Given the description of an element on the screen output the (x, y) to click on. 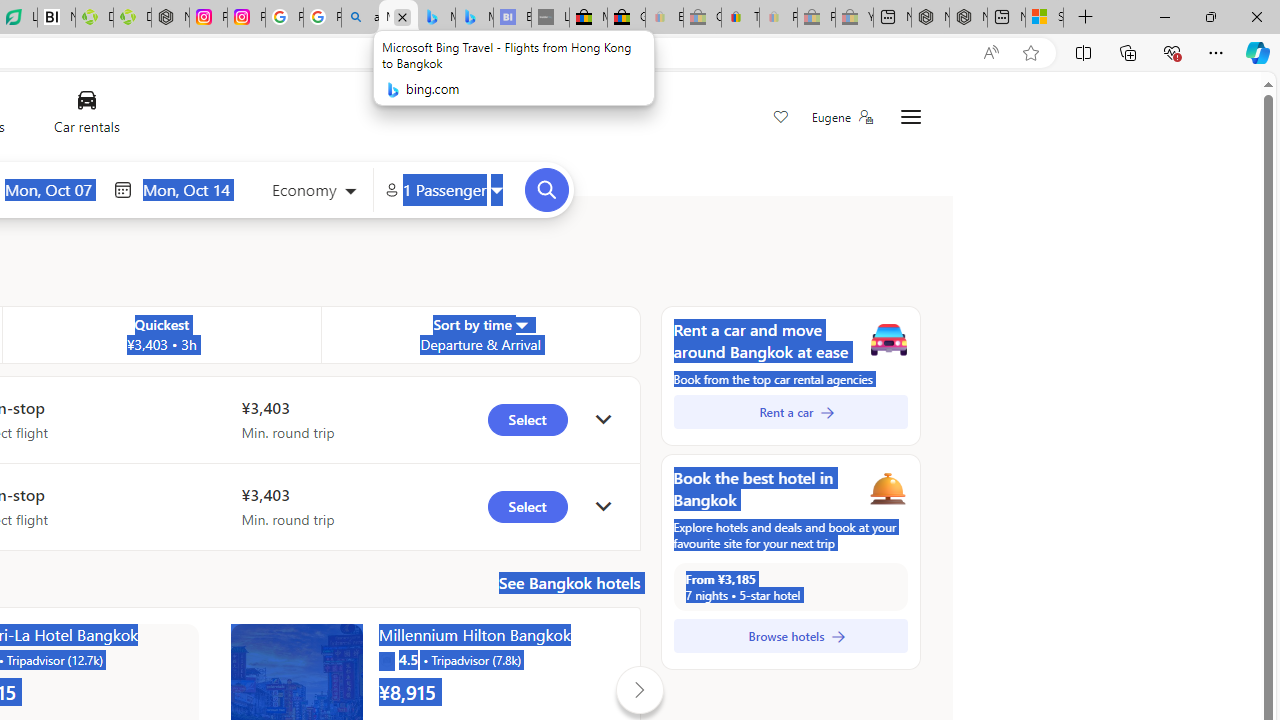
Sort by time Sorter Departure & Arrival (480, 334)
End date (191, 189)
Nvidia va a poner a prueba la paciencia de los inversores (56, 17)
Microsoft Bing Travel - Shangri-La Hotel Bangkok (473, 17)
Payments Terms of Use | eBay.com - Sleeping (778, 17)
Click to scroll right (639, 690)
